Given the description of an element on the screen output the (x, y) to click on. 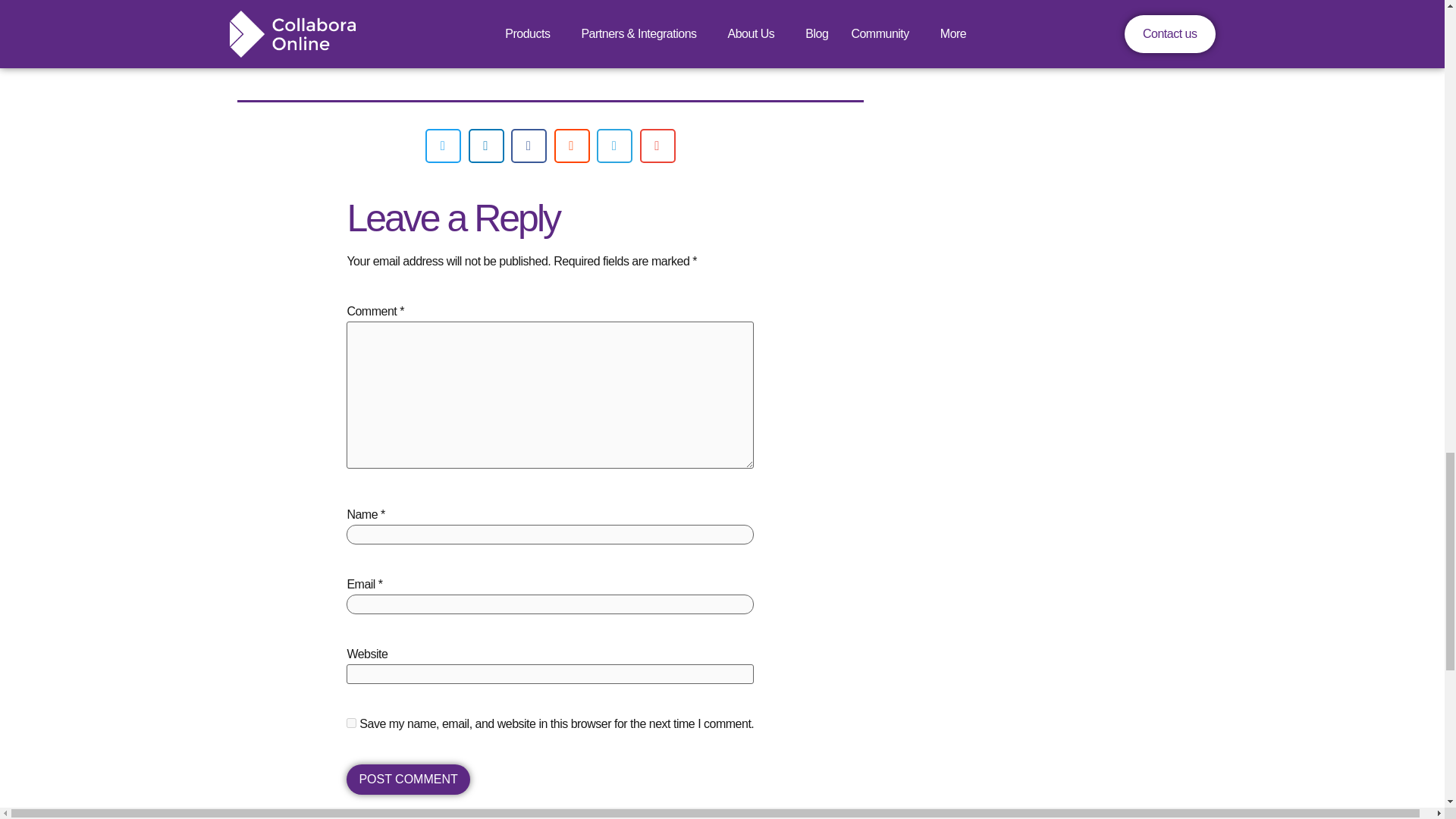
Post Comment (407, 779)
yes (351, 723)
